Given the description of an element on the screen output the (x, y) to click on. 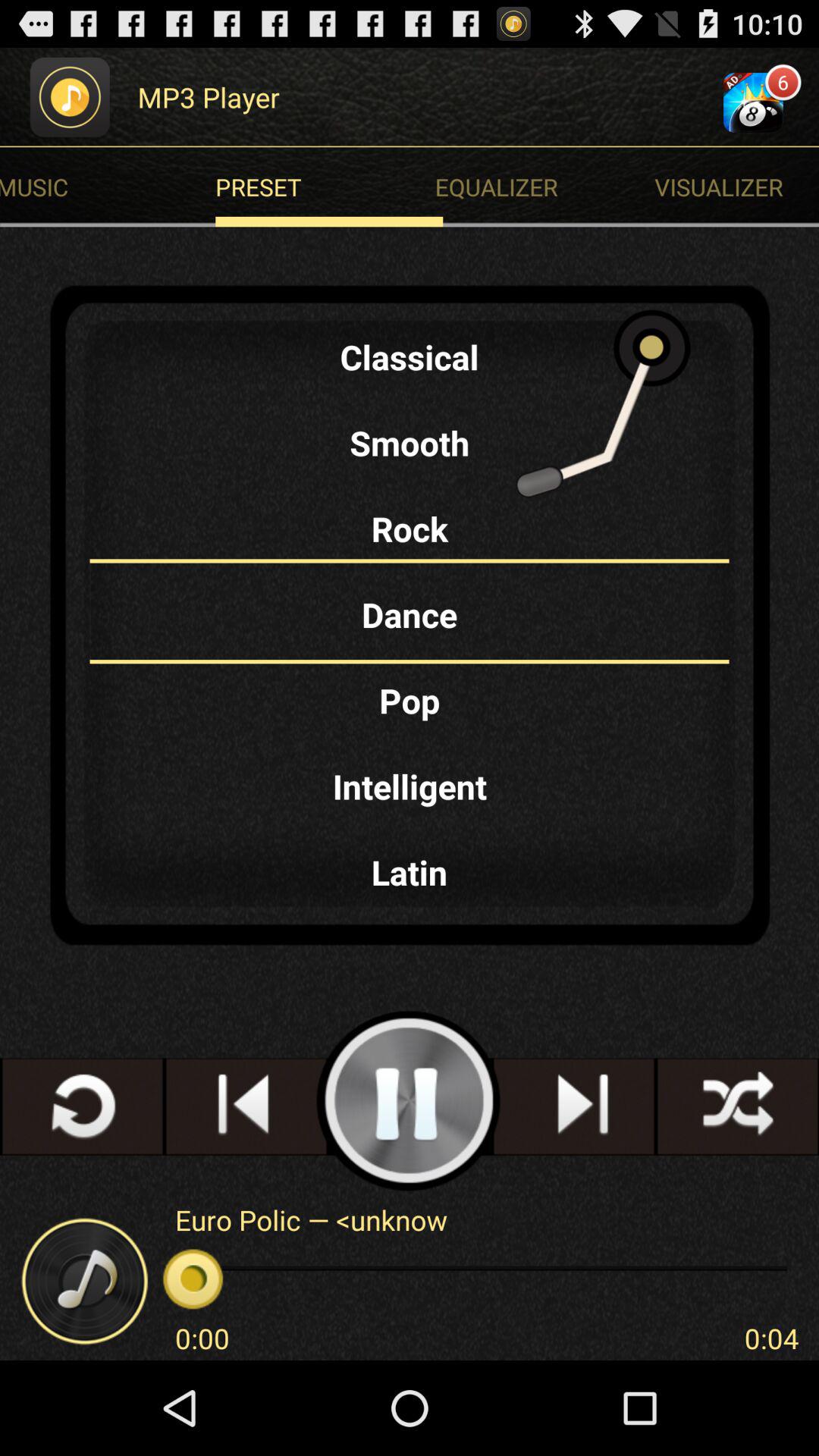
play (408, 1101)
